Given the description of an element on the screen output the (x, y) to click on. 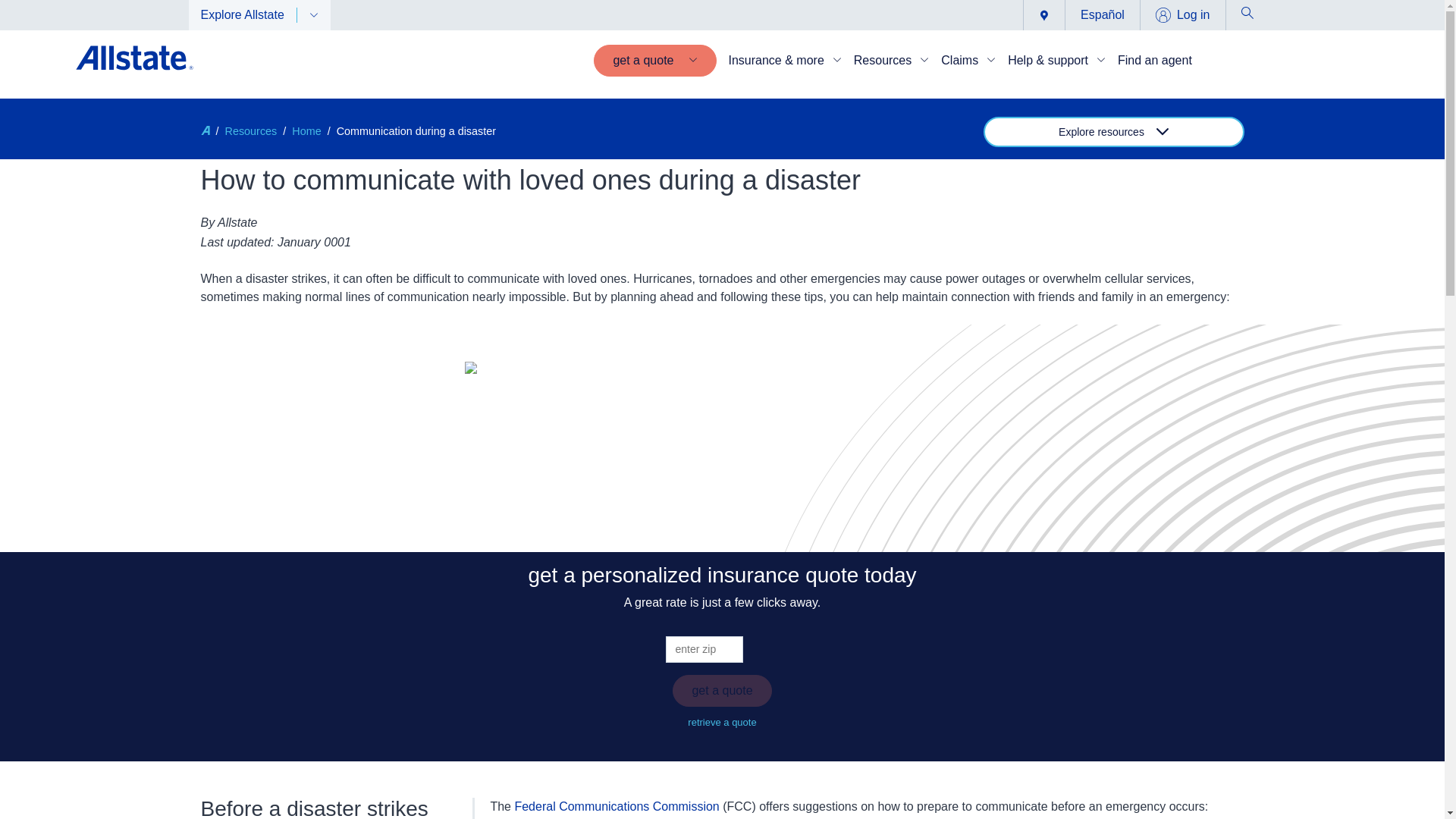
get a quote (655, 60)
Allstate (204, 130)
Allstate.com (134, 60)
Log in (1182, 15)
Explore Allstate (258, 15)
